Given the description of an element on the screen output the (x, y) to click on. 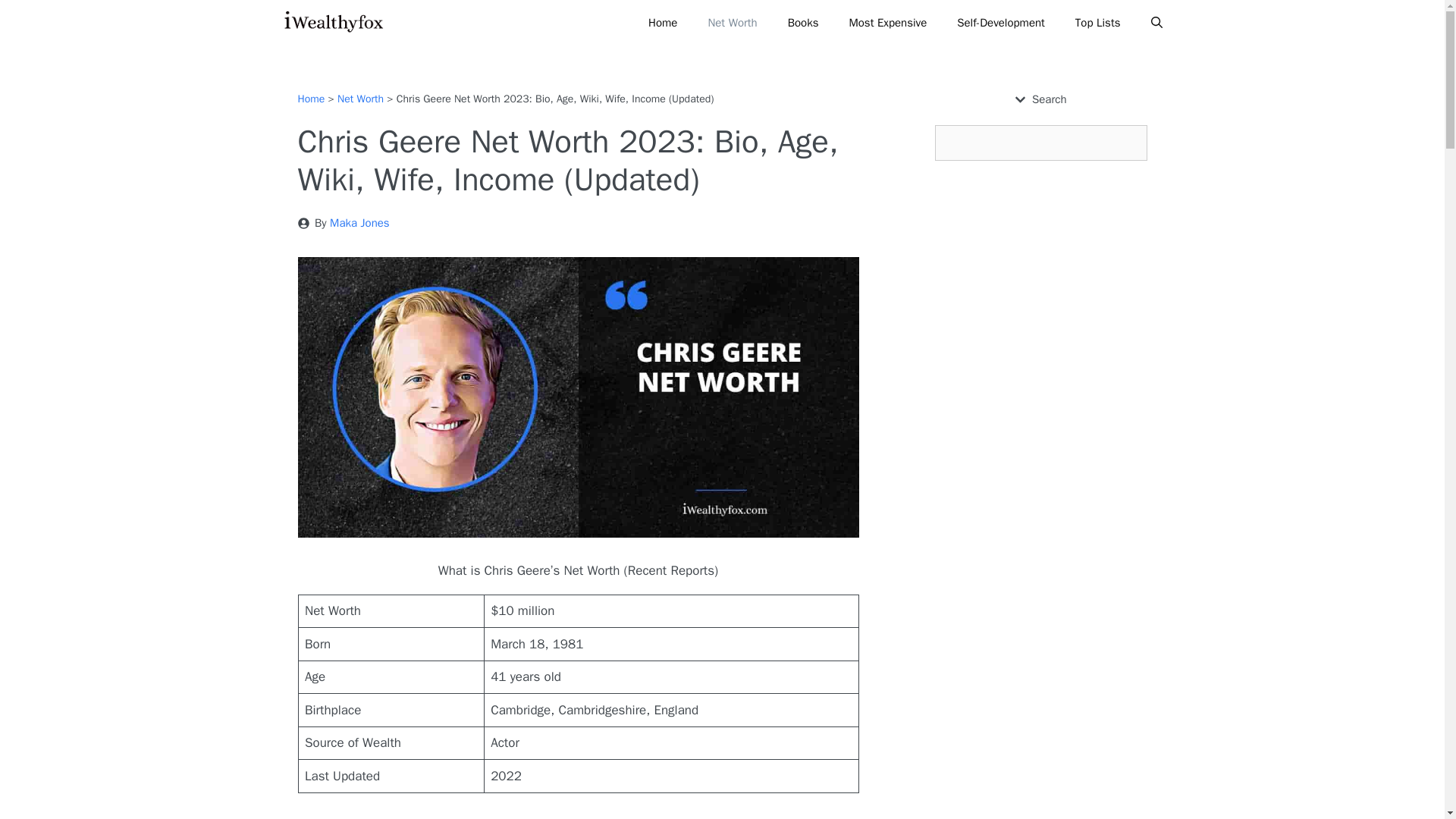
iWealthyfox (332, 22)
Net Worth (732, 22)
Home (310, 98)
Net Worth (360, 98)
Maka Jones (360, 223)
iWealthyfox (336, 22)
Home (663, 22)
Books (803, 22)
Self-Development (1000, 22)
Most Expensive (887, 22)
